Given the description of an element on the screen output the (x, y) to click on. 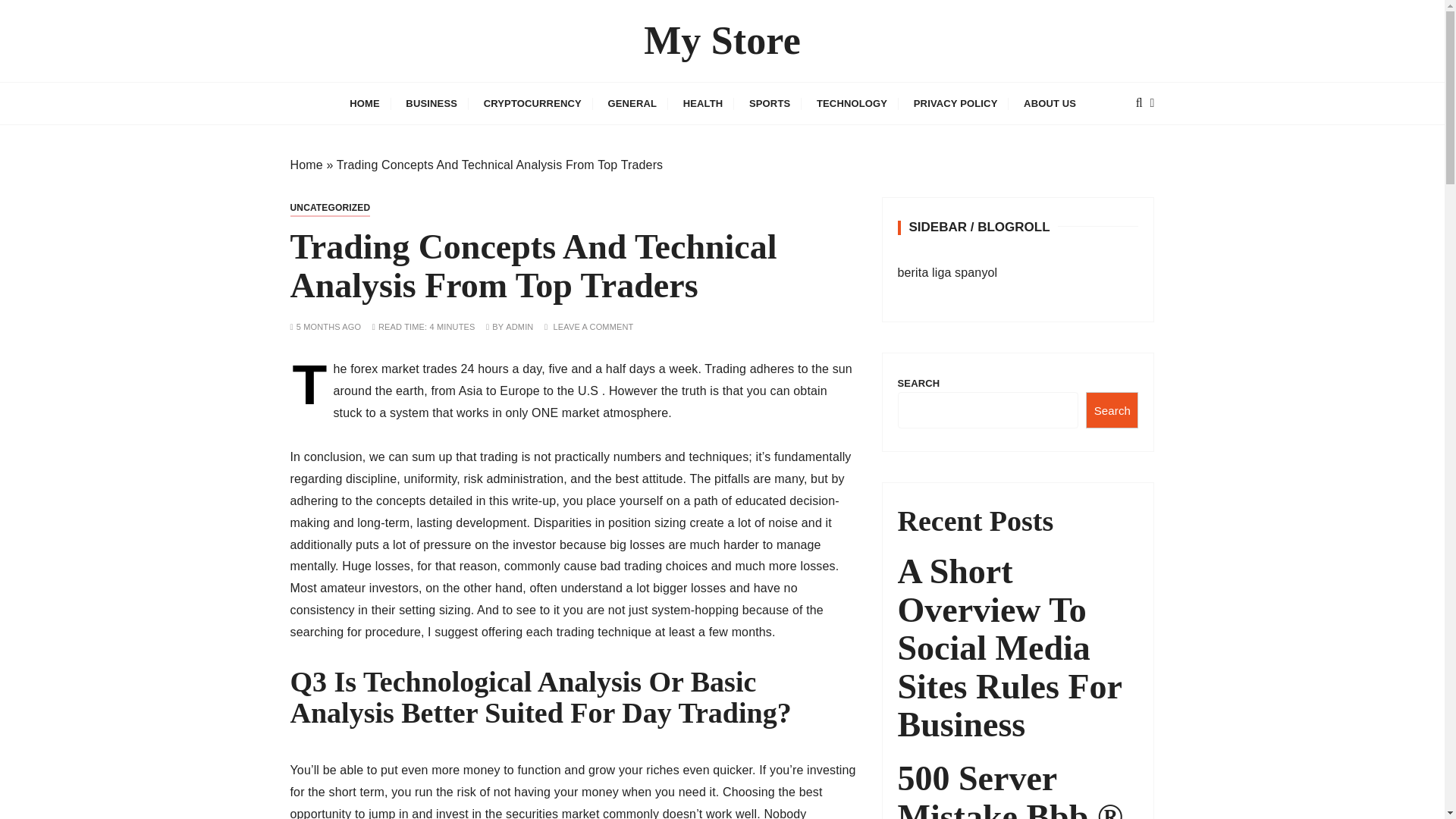
ABOUT US (1049, 103)
LEAVE A COMMENT (593, 326)
A Short Overview To Social Media Sites Rules For Business (1018, 648)
Search (1112, 410)
HEALTH (703, 103)
berita liga spanyol (947, 272)
PRIVACY POLICY (955, 103)
GENERAL (631, 103)
BUSINESS (431, 103)
My Store (721, 40)
berita liga spanyol (947, 272)
SPORTS (770, 103)
CRYPTOCURRENCY (531, 103)
Home (305, 164)
UNCATEGORIZED (329, 208)
